Given the description of an element on the screen output the (x, y) to click on. 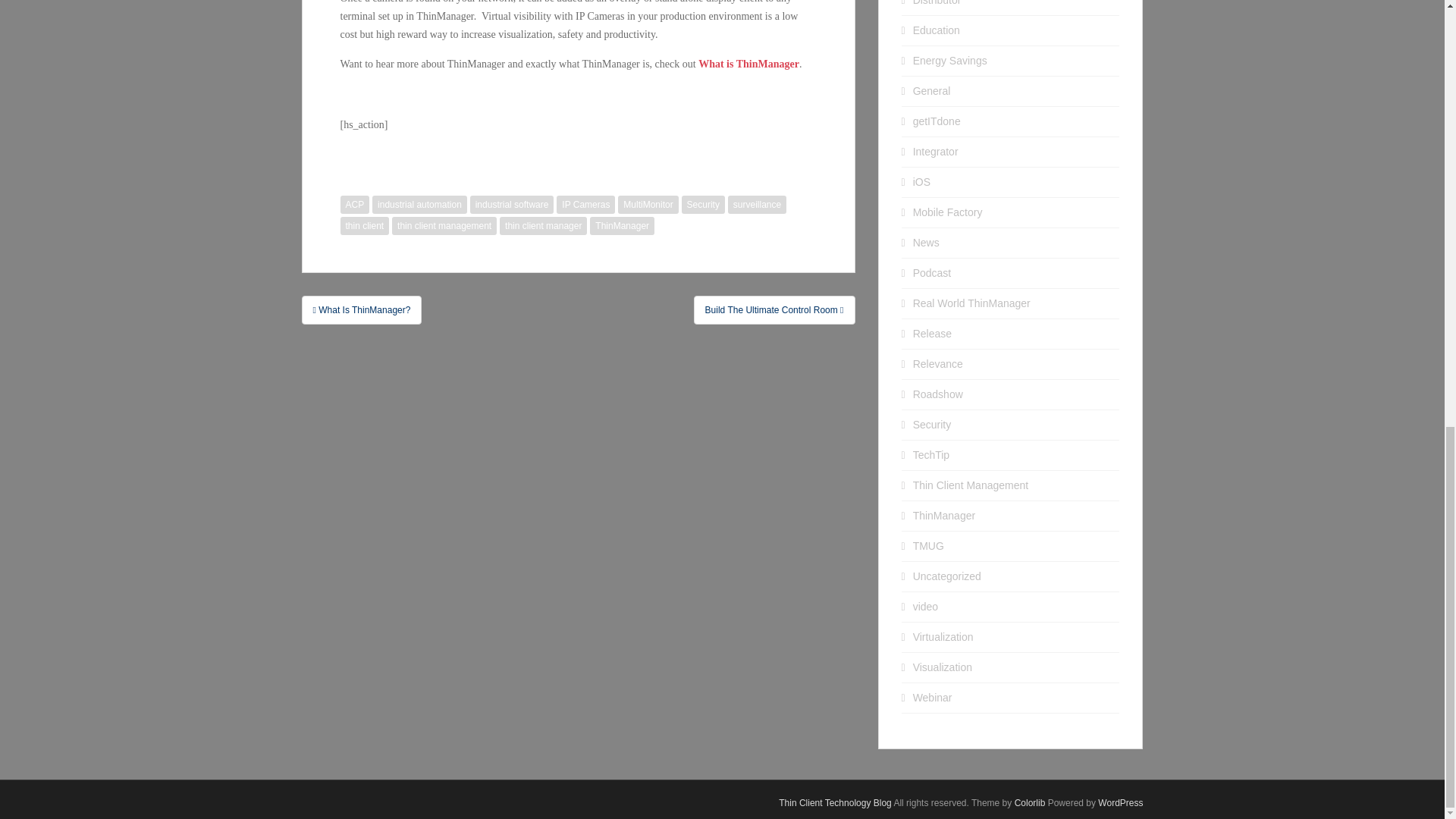
Thin Client Technology Blog (834, 802)
IP Cameras (585, 204)
ACP (354, 204)
thin client management (443, 226)
industrial automation (419, 204)
surveillance (757, 204)
thin client manager (542, 226)
What Is ThinManager? (361, 309)
ThinManager (621, 226)
MultiMonitor (647, 204)
Build The Ultimate Control Room (775, 309)
What is ThinManager (748, 63)
Security (703, 204)
industrial software (512, 204)
thin client (363, 226)
